Given the description of an element on the screen output the (x, y) to click on. 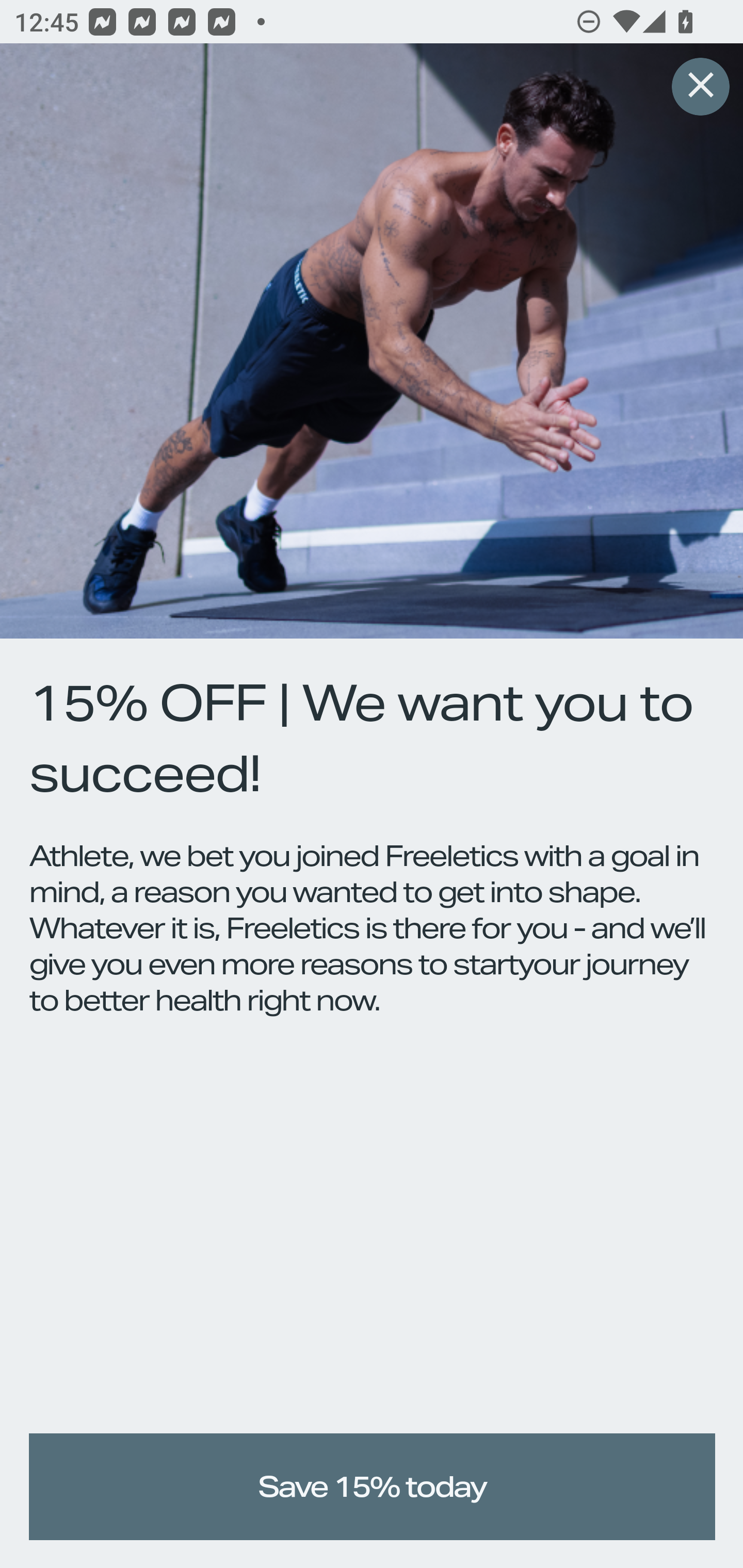
# 315627333 (700, 87)
Save 15% today (372, 1486)
